Given the description of an element on the screen output the (x, y) to click on. 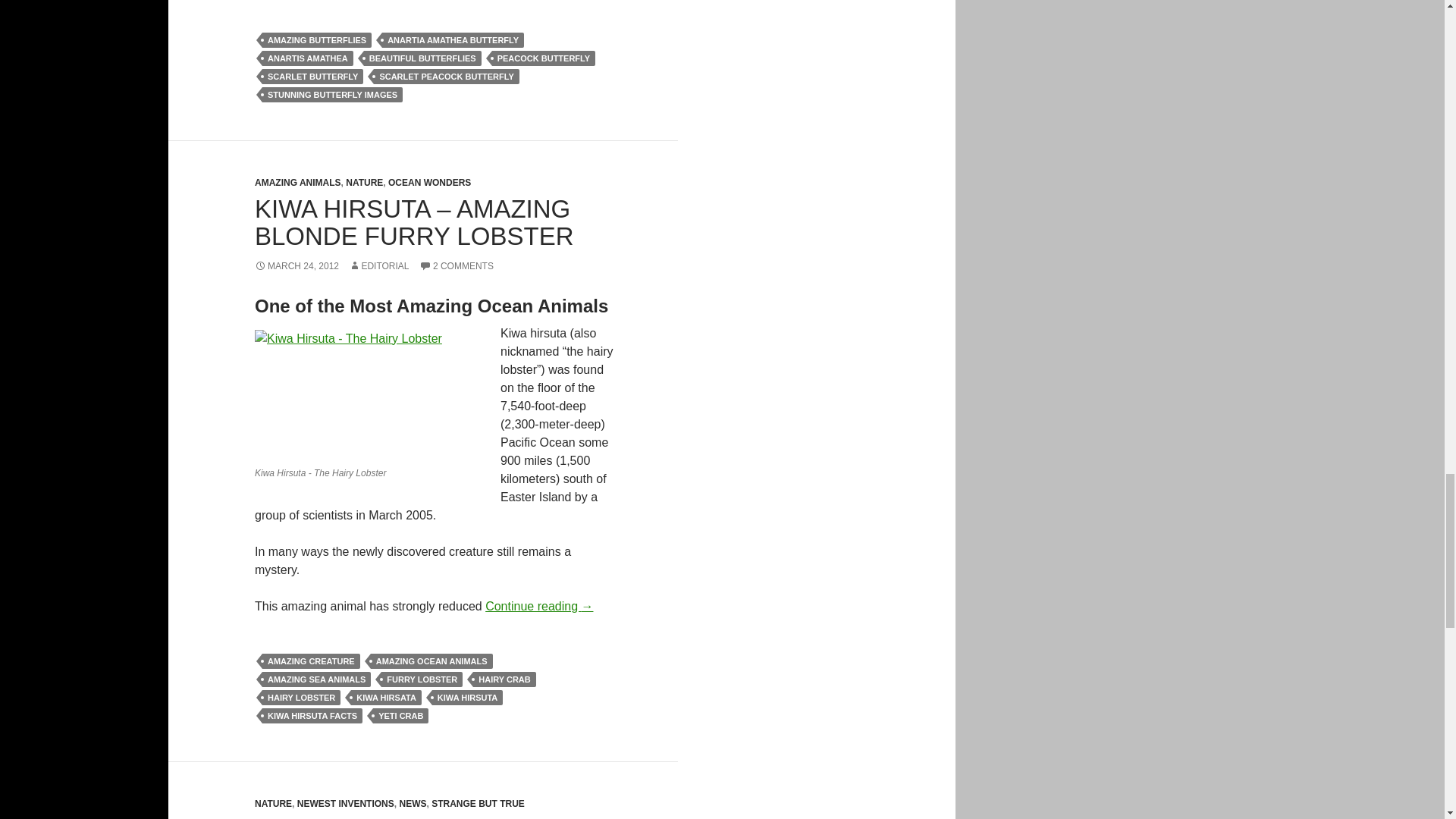
Kiwa Hirsuta - The Hairy Lobster (367, 394)
